Given the description of an element on the screen output the (x, y) to click on. 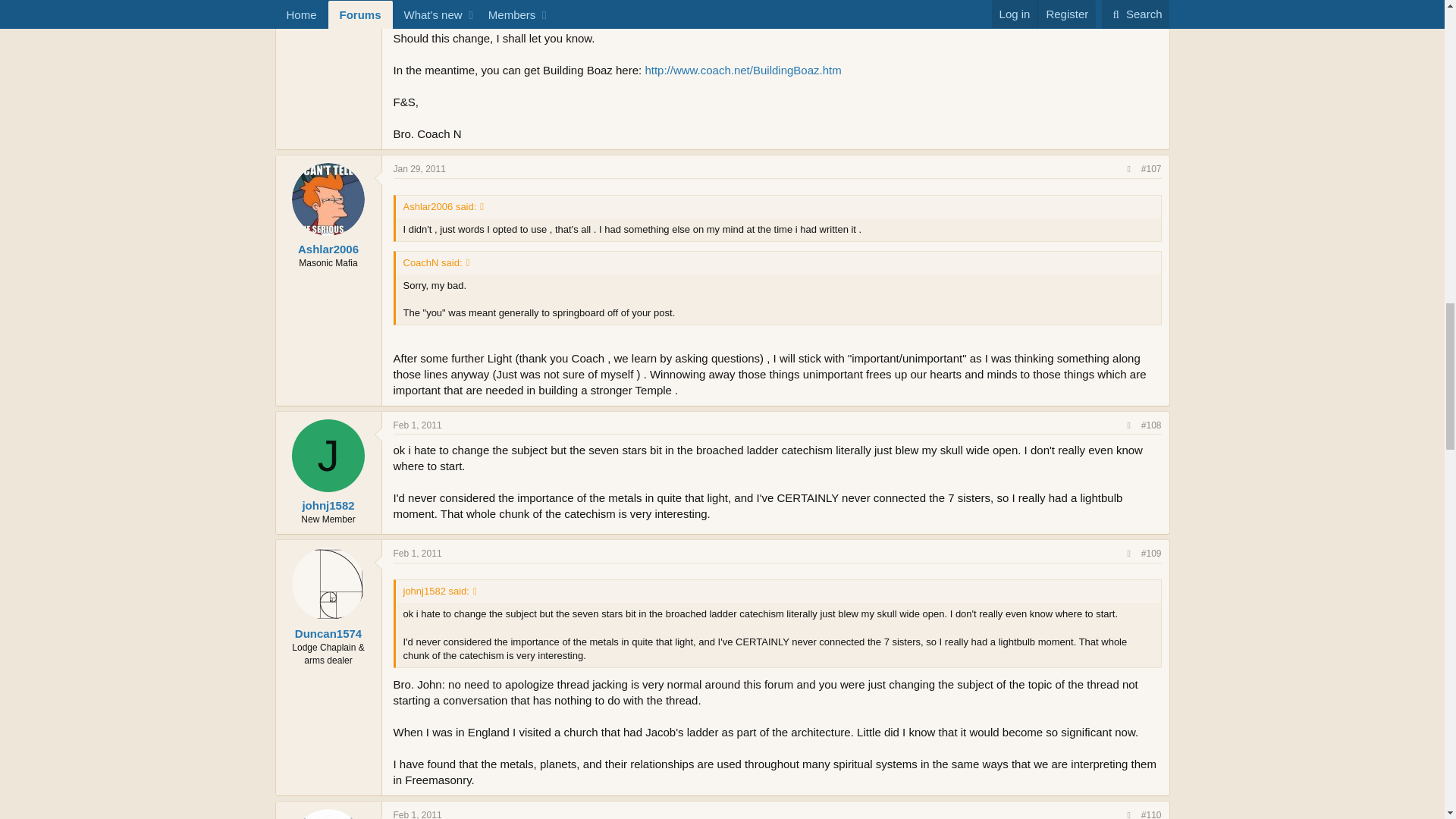
Feb 1, 2011 at 5:54 PM (417, 552)
Jan 29, 2011 at 12:41 PM (419, 168)
Feb 1, 2011 at 3:37 PM (417, 425)
